Given the description of an element on the screen output the (x, y) to click on. 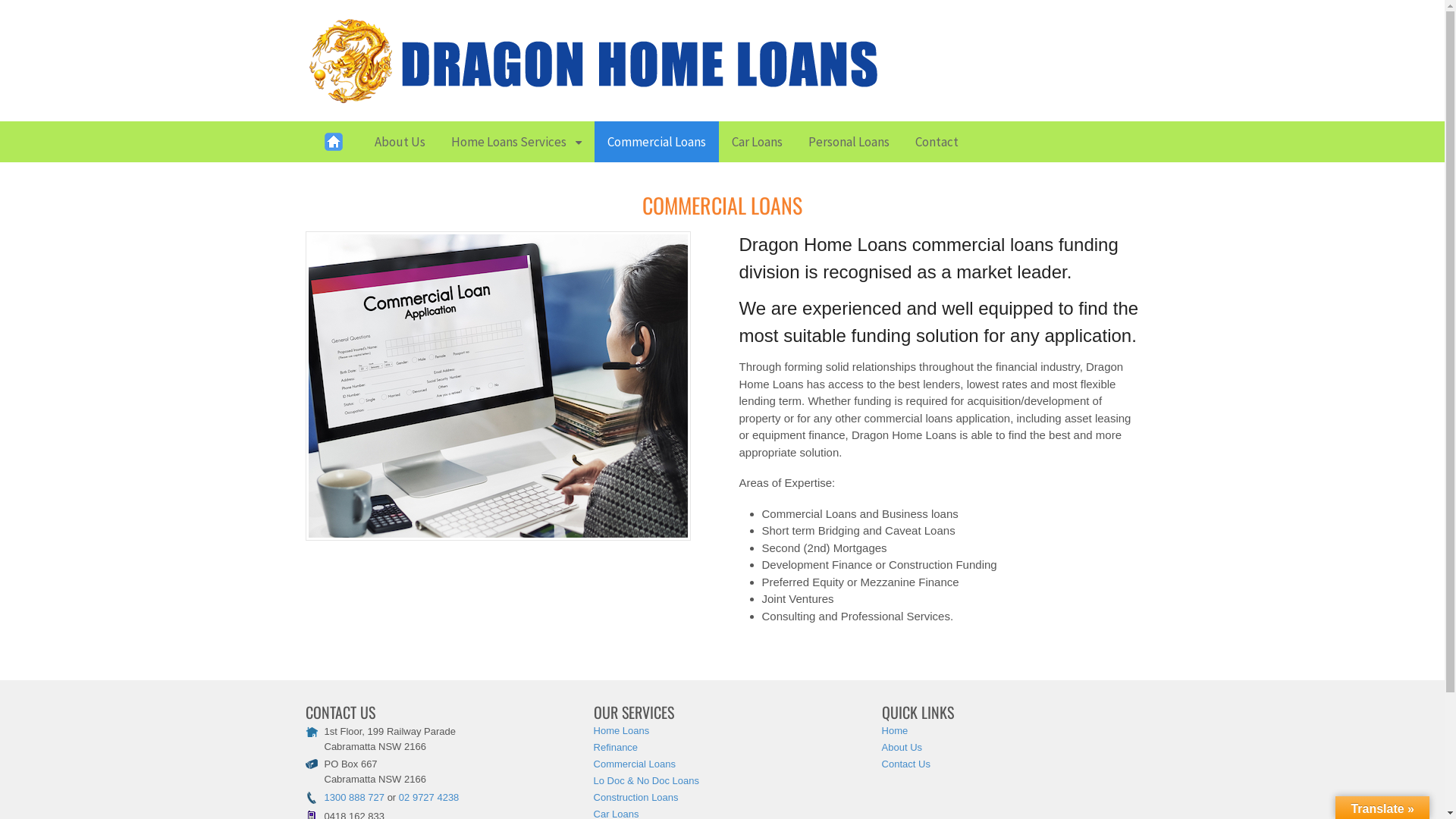
Personal Loans Element type: text (848, 141)
Car Loans Element type: text (756, 141)
About Us Element type: text (901, 747)
02 9727 4238 Element type: text (428, 797)
Contact Us Element type: text (905, 763)
1300 888 727 Element type: text (354, 797)
Home Loans Services Element type: text (516, 141)
Commercial Loans Element type: text (656, 141)
Commercial Loans Element type: text (634, 763)
Refinance Element type: text (615, 747)
Lo Doc & No Doc Loans Element type: text (646, 780)
About Us Element type: text (398, 141)
Home Element type: text (894, 730)
Construction Loans Element type: text (635, 797)
Home Element type: text (332, 141)
Home Loans Element type: text (621, 730)
Contact Element type: text (936, 141)
